Given the description of an element on the screen output the (x, y) to click on. 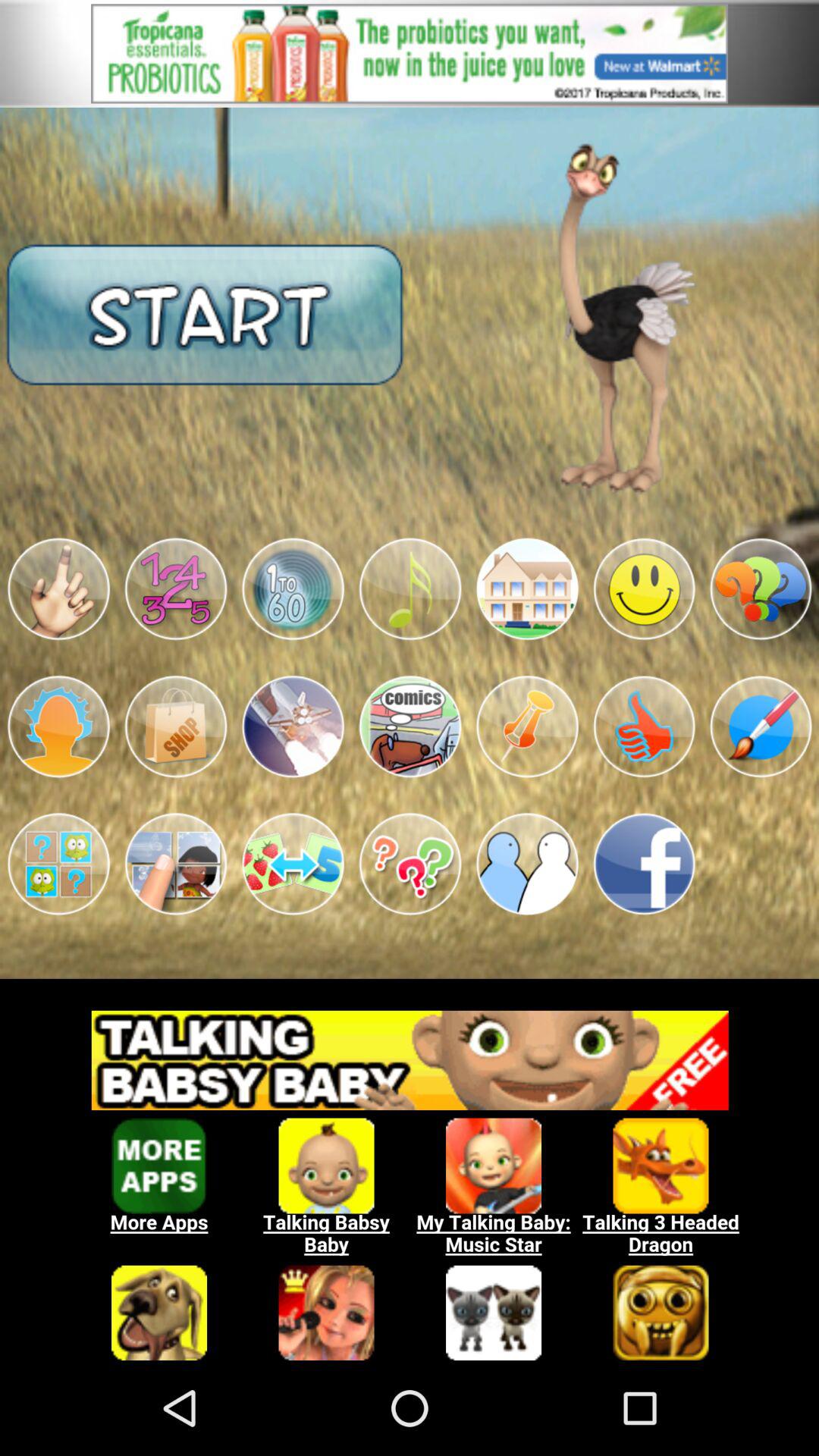
for image (643, 726)
